Given the description of an element on the screen output the (x, y) to click on. 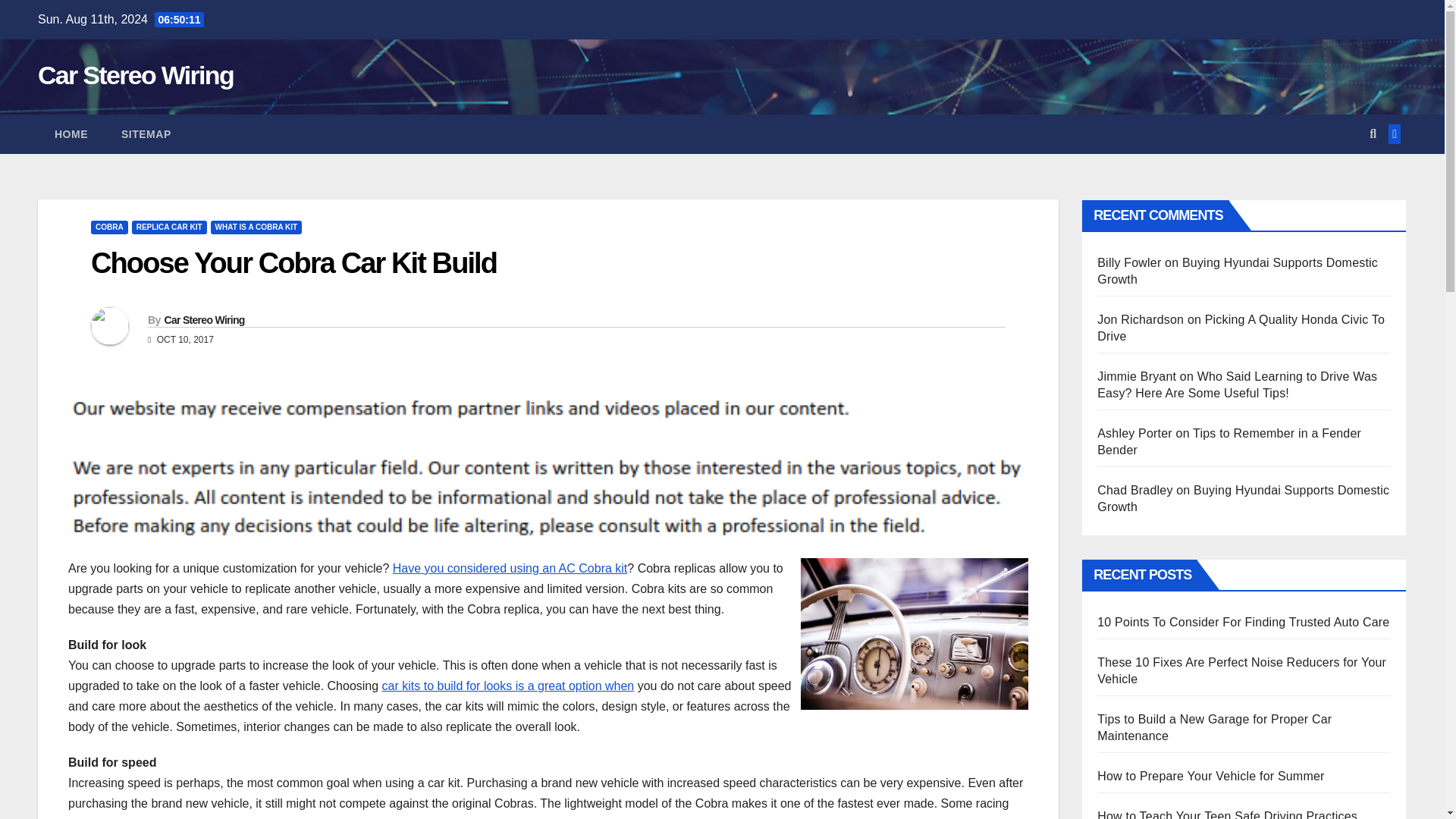
Car Stereo Wiring (134, 74)
Choose Your Cobra Car Kit Build (293, 263)
Home (70, 133)
car kits to build for looks is a great option when (507, 685)
Car Stereo Wiring (203, 319)
Muscle car, Shelby cobra kit car (510, 567)
Title (507, 685)
WHAT IS A COBRA KIT (256, 227)
COBRA (109, 227)
REPLICA CAR KIT (169, 227)
